Given the description of an element on the screen output the (x, y) to click on. 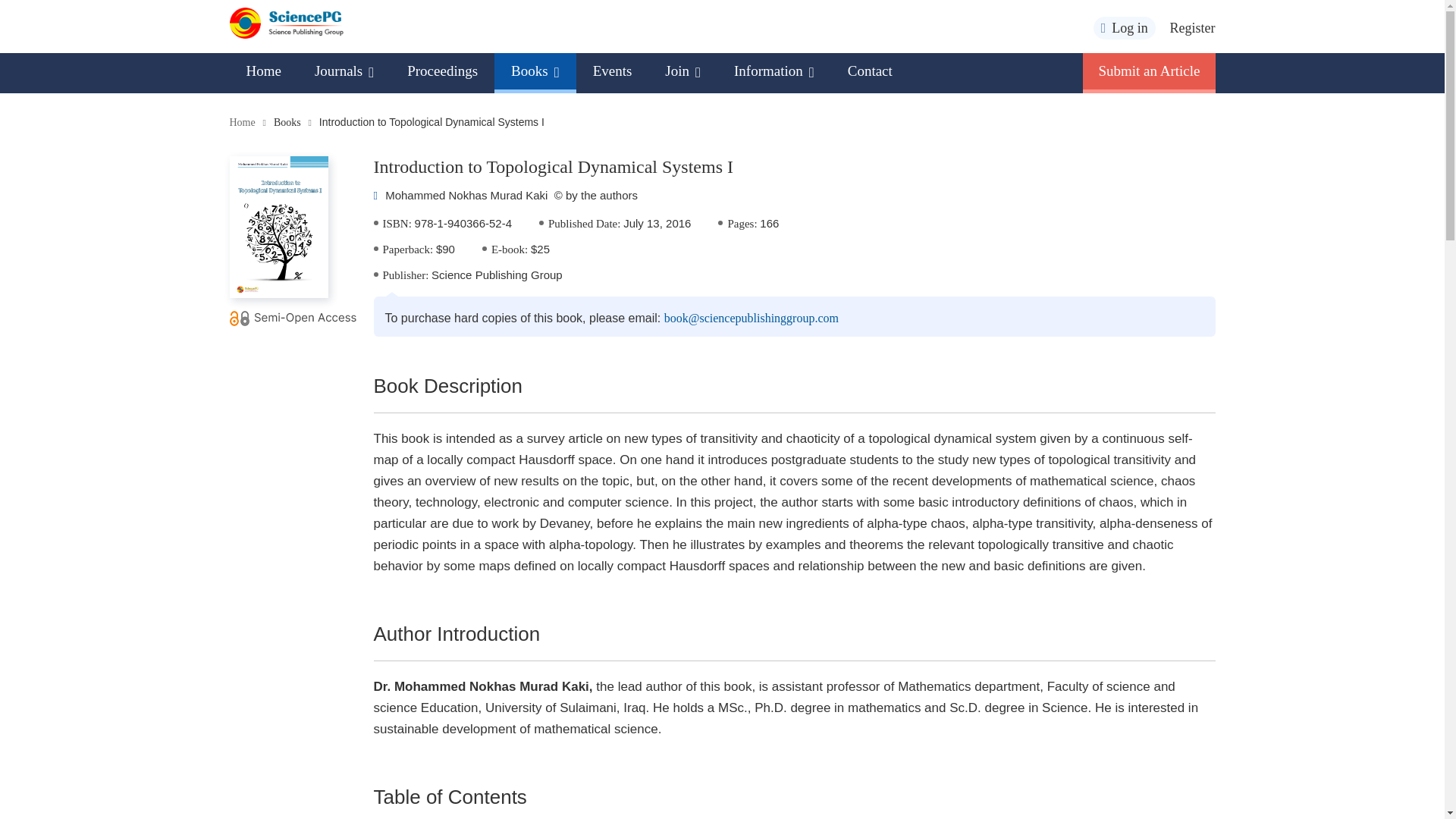
Events (612, 71)
Information (774, 71)
Books (535, 71)
Home (262, 71)
Journals (344, 71)
Proceedings (442, 71)
Log in (1124, 27)
Join (682, 71)
Register (1191, 28)
